Given the description of an element on the screen output the (x, y) to click on. 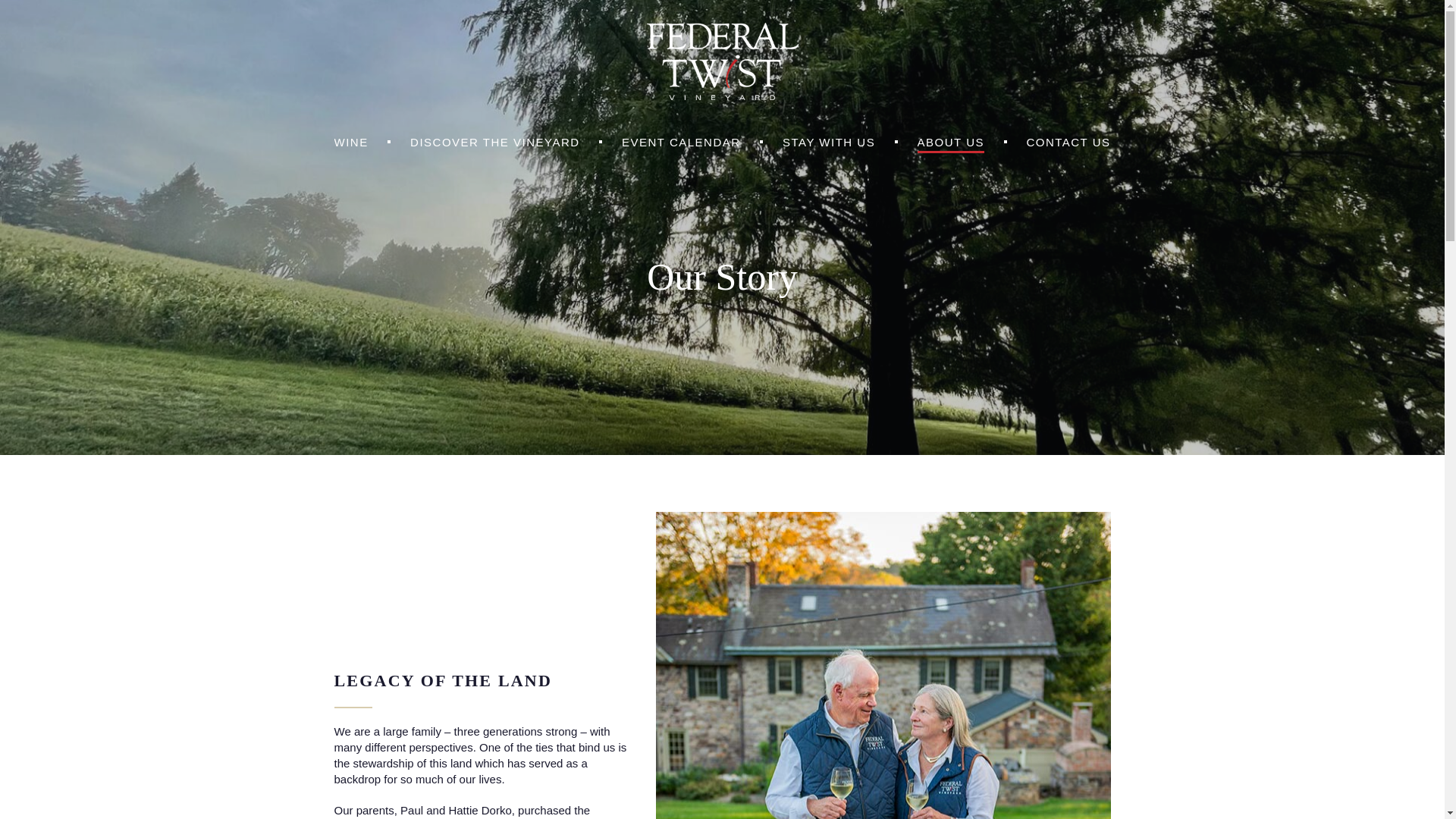
CONTACT US (1067, 143)
WINE (350, 143)
STAY WITH US (829, 143)
DISCOVER THE VINEYARD (494, 143)
EVENT CALENDAR (681, 143)
ABOUT US (950, 143)
Federal Twist Vineyard (721, 96)
